Given the description of an element on the screen output the (x, y) to click on. 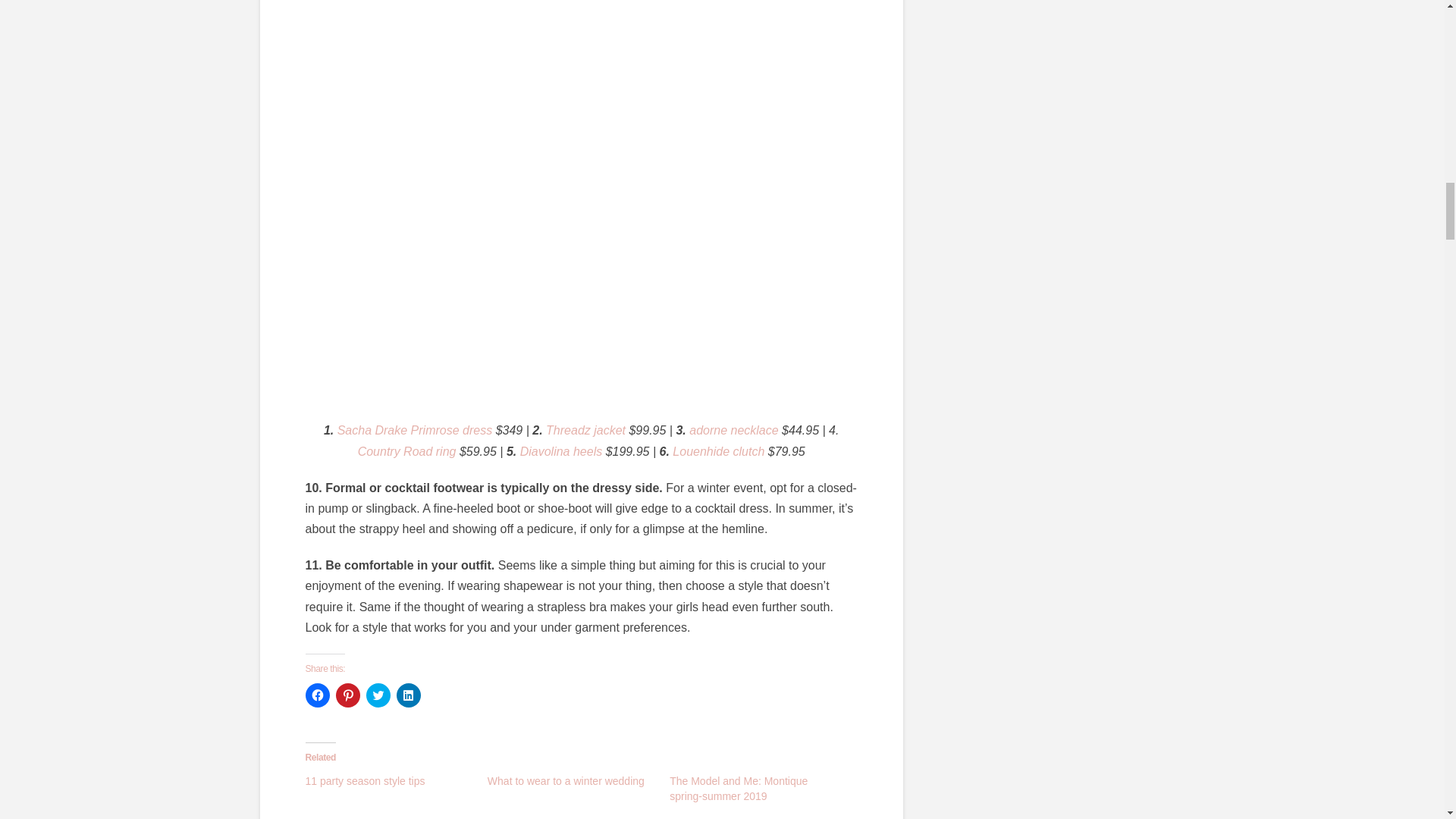
11 party season style tips (364, 780)
The Model and Me: Montique spring-summer 2019 (738, 788)
What to wear to a winter wedding (566, 780)
Click to share on Pinterest (346, 695)
Click to share on Twitter (377, 695)
Click to share on Facebook (316, 695)
Click to share on LinkedIn (408, 695)
